Given the description of an element on the screen output the (x, y) to click on. 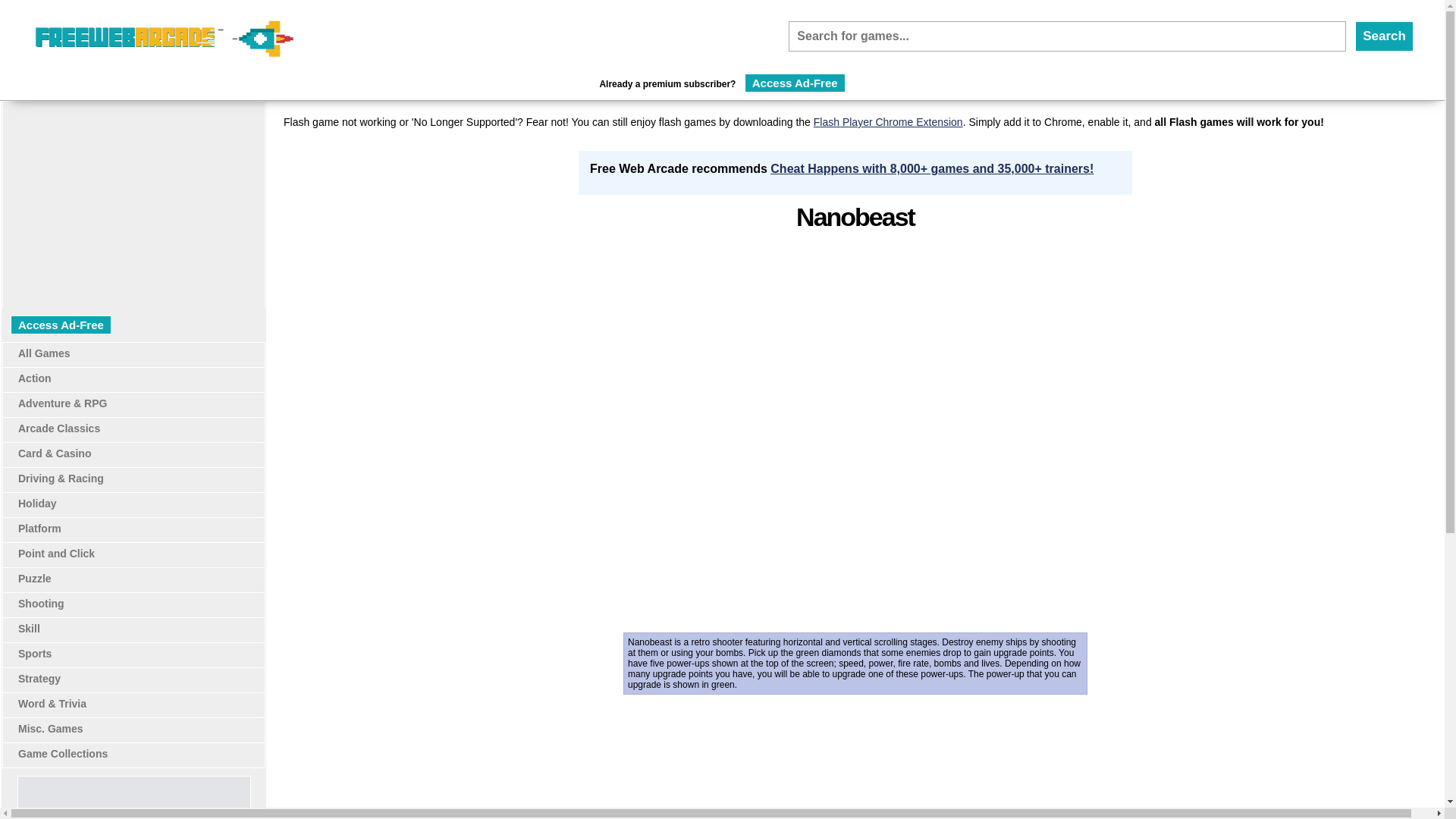
Search (1384, 36)
Shooting (40, 603)
Action (33, 378)
Arcade Classics (58, 428)
Misc. Games (49, 728)
Strategy (39, 678)
Game Collections (62, 753)
Access Ad-Free (61, 324)
Skill (28, 628)
Sports (33, 653)
